Given the description of an element on the screen output the (x, y) to click on. 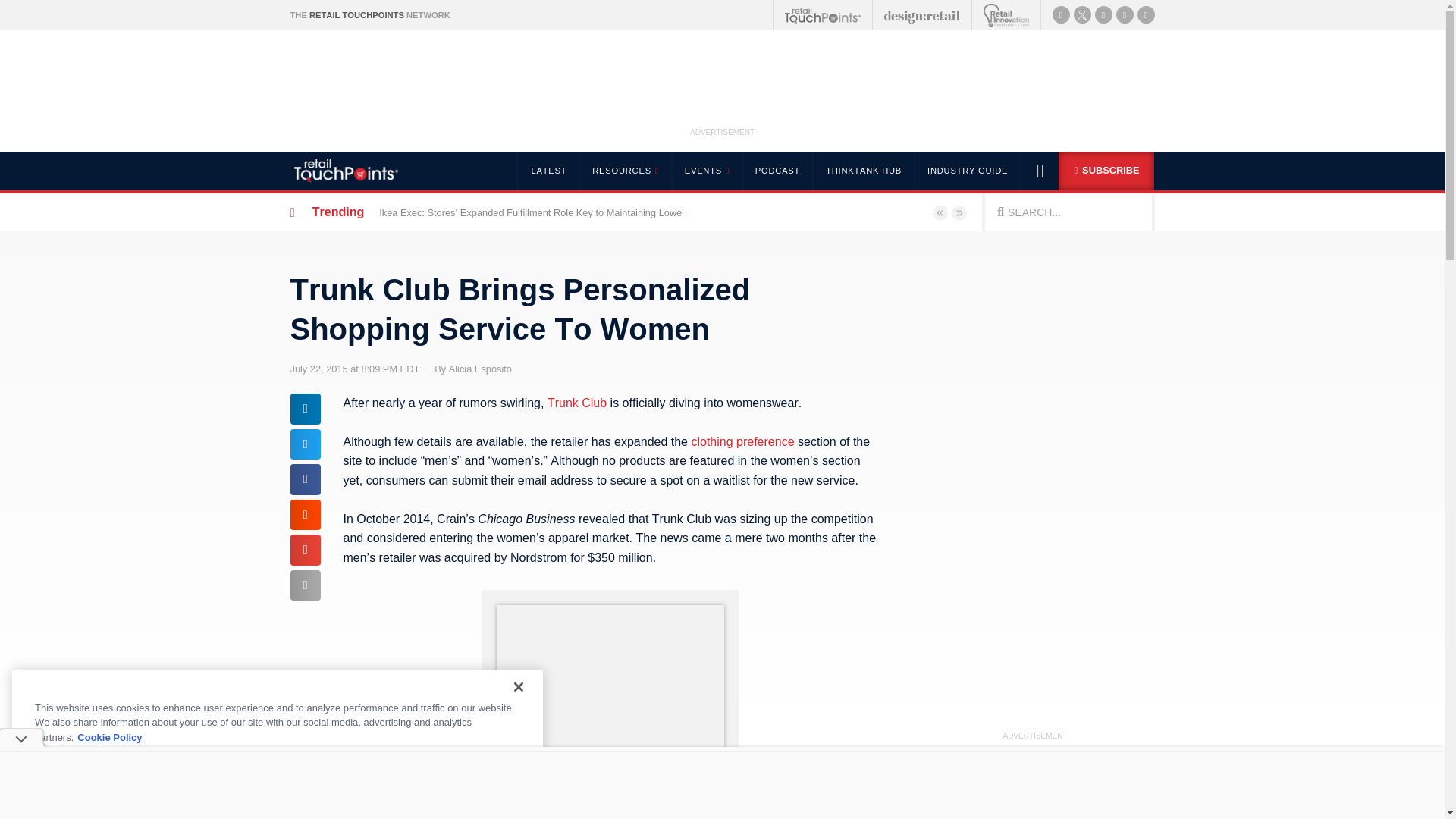
3rd party ad content (609, 699)
PODCAST (776, 170)
THINKTANK HUB (863, 170)
3rd party ad content (721, 785)
3rd party ad content (722, 87)
INDUSTRY GUIDE (968, 170)
3rd party ad content (1034, 497)
LATEST (547, 170)
EVENTS (706, 170)
RESOURCES (623, 170)
